Given the description of an element on the screen output the (x, y) to click on. 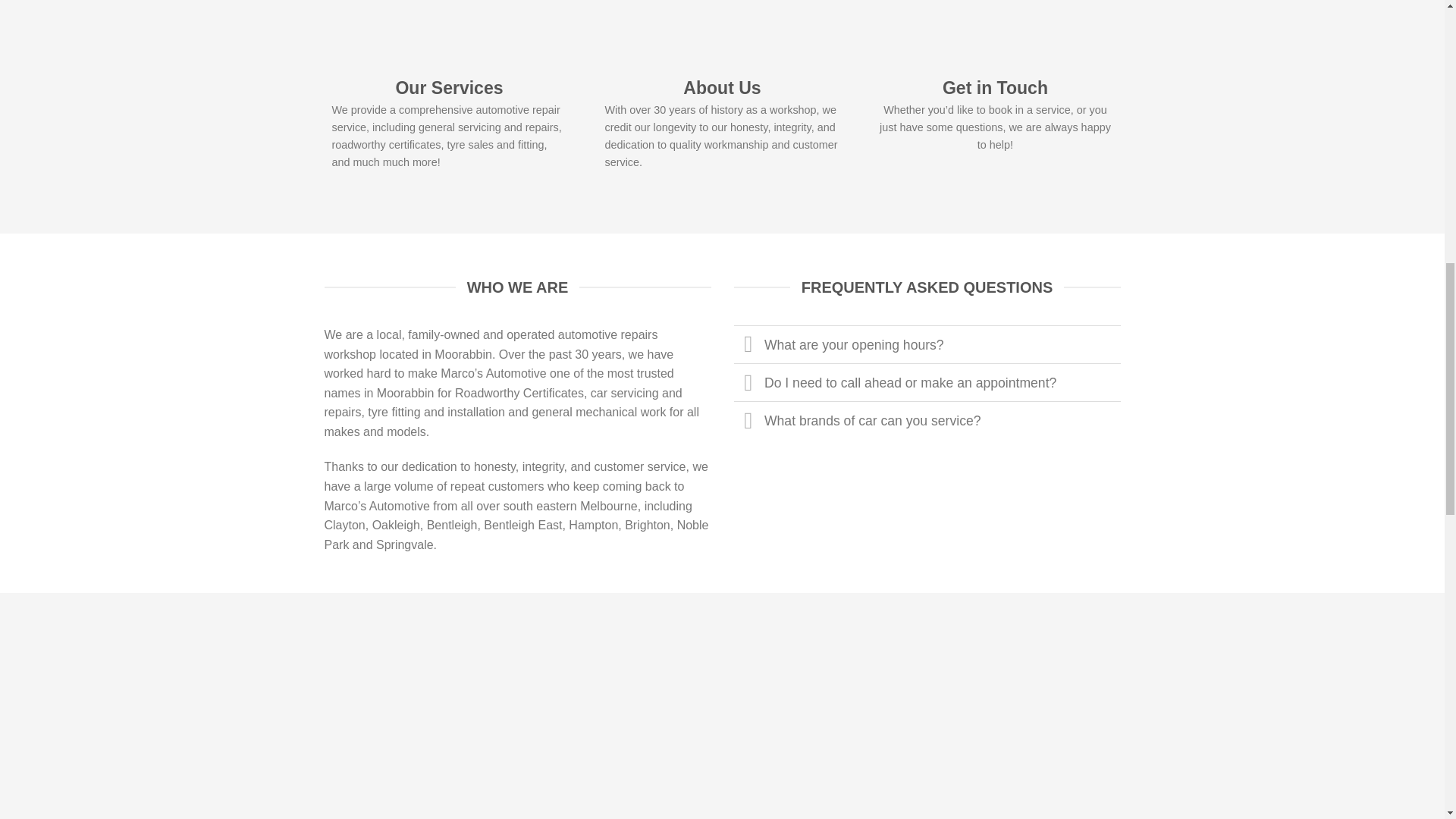
What brands of car can you service? (927, 419)
What are your opening hours? (927, 344)
Do I need to call ahead or make an appointment? (927, 382)
